Given the description of an element on the screen output the (x, y) to click on. 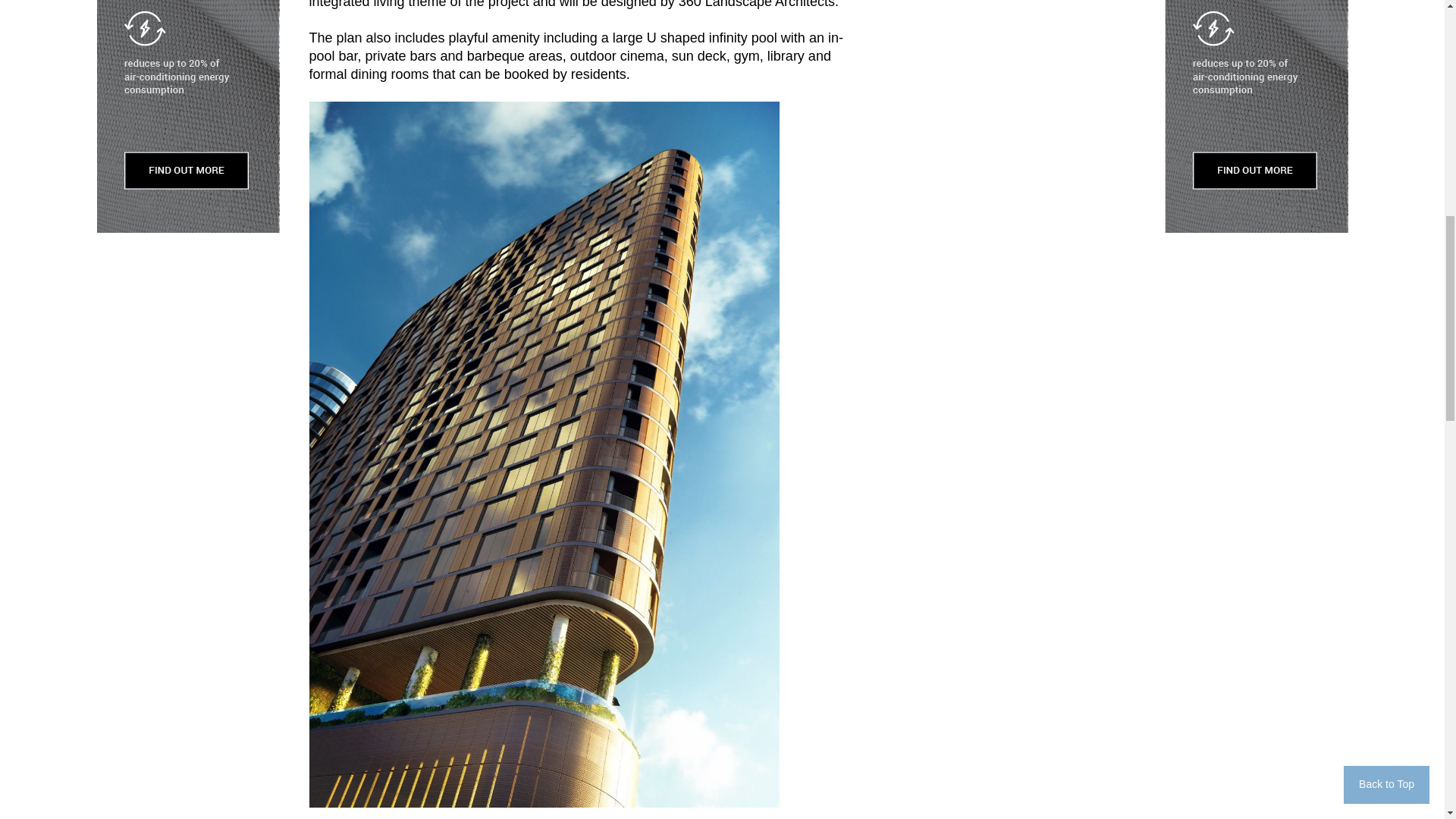
3rd party ad content (1011, 143)
3rd party ad content (1011, 348)
3rd party ad content (1011, 16)
